Given the description of an element on the screen output the (x, y) to click on. 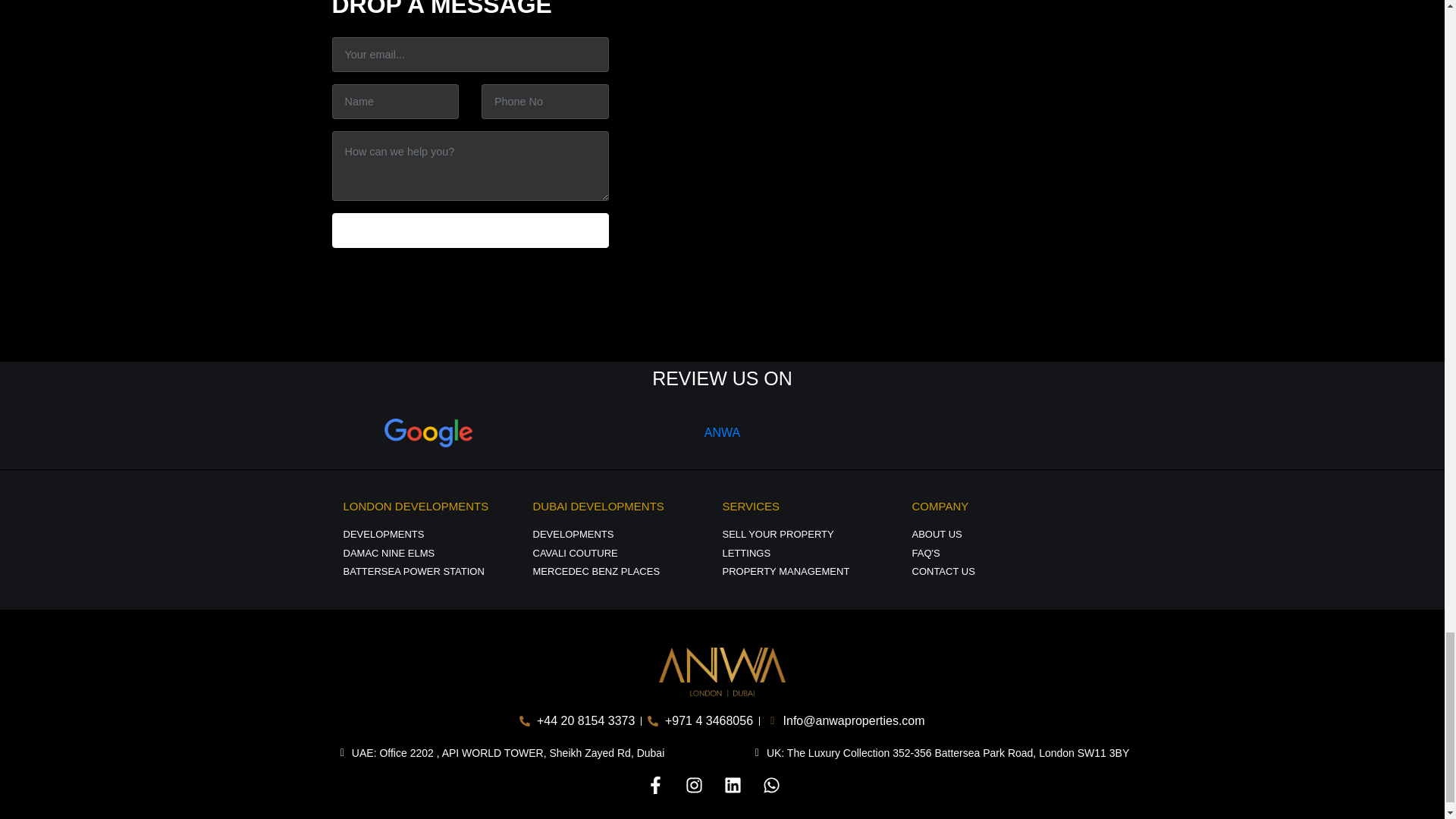
SEND MESSAGE (469, 230)
